Given the description of an element on the screen output the (x, y) to click on. 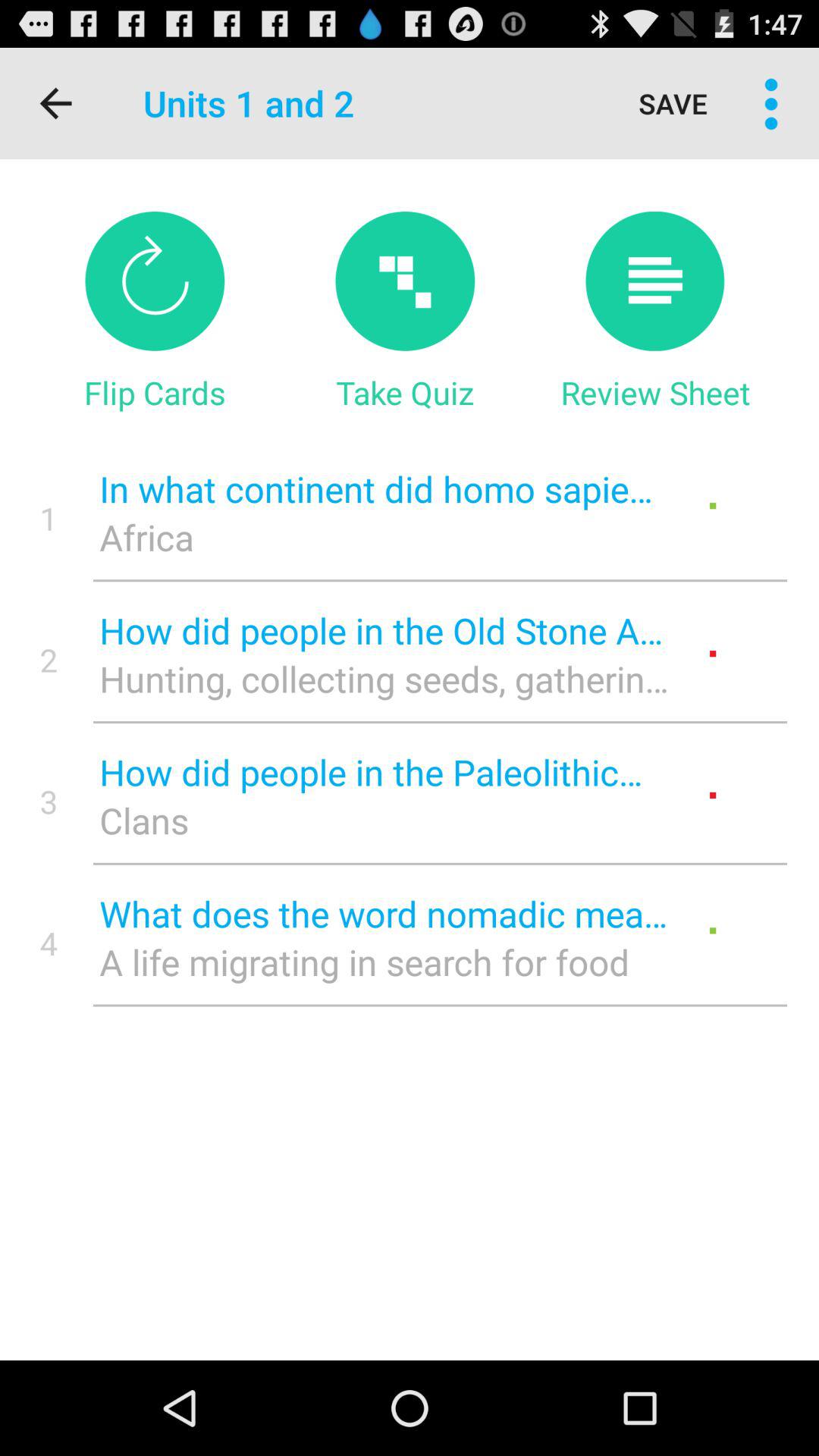
swipe to clans (384, 820)
